Given the description of an element on the screen output the (x, y) to click on. 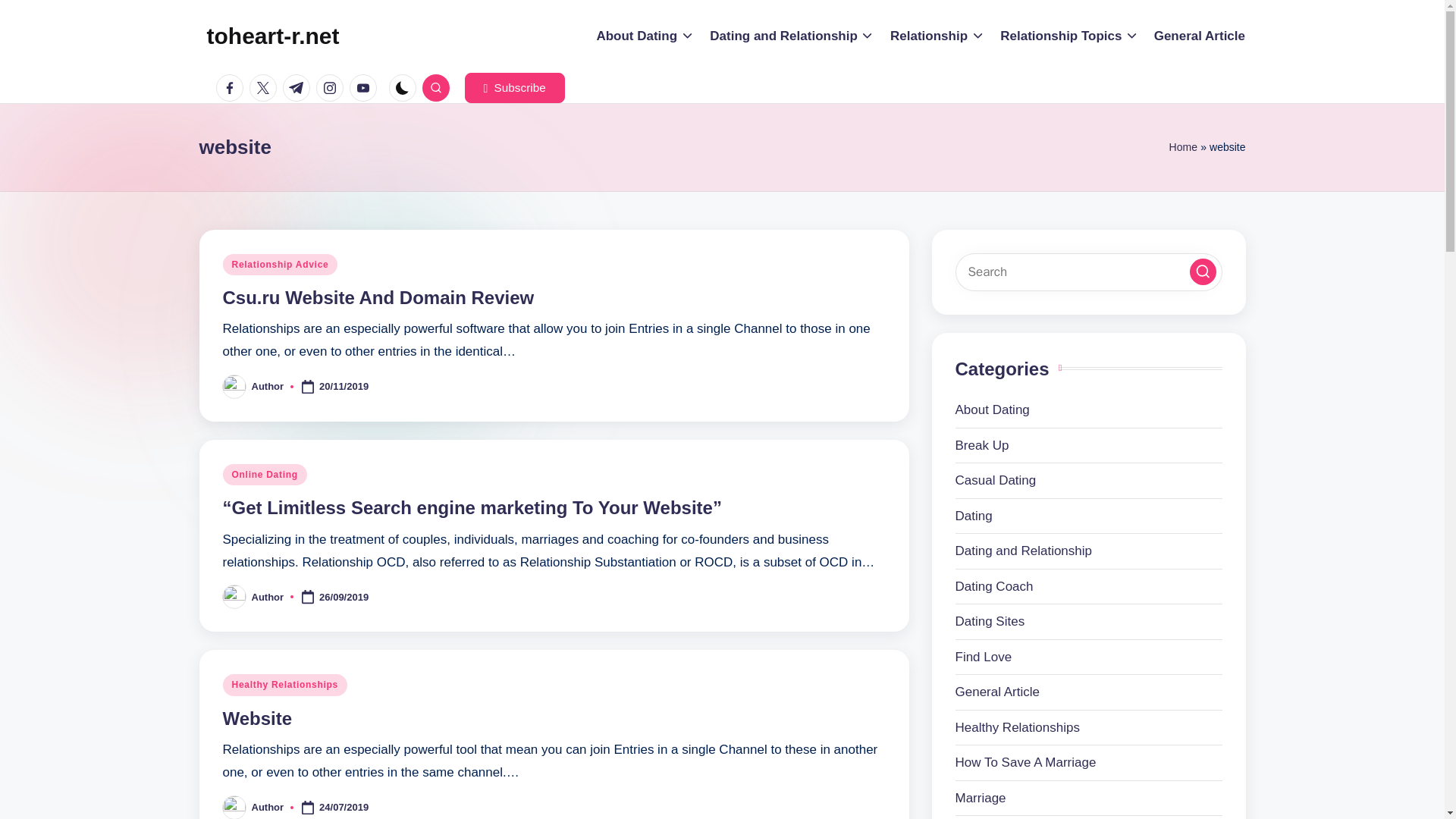
View all posts by Author (267, 386)
instagram.com (332, 87)
Csu.ru Website And Domain Review (378, 297)
Dating and Relationship (792, 36)
General Article (1199, 36)
twitter.com (265, 87)
toheart-r.net (272, 36)
Relationship (937, 36)
View all posts by Author (267, 807)
About Dating (644, 36)
